Given the description of an element on the screen output the (x, y) to click on. 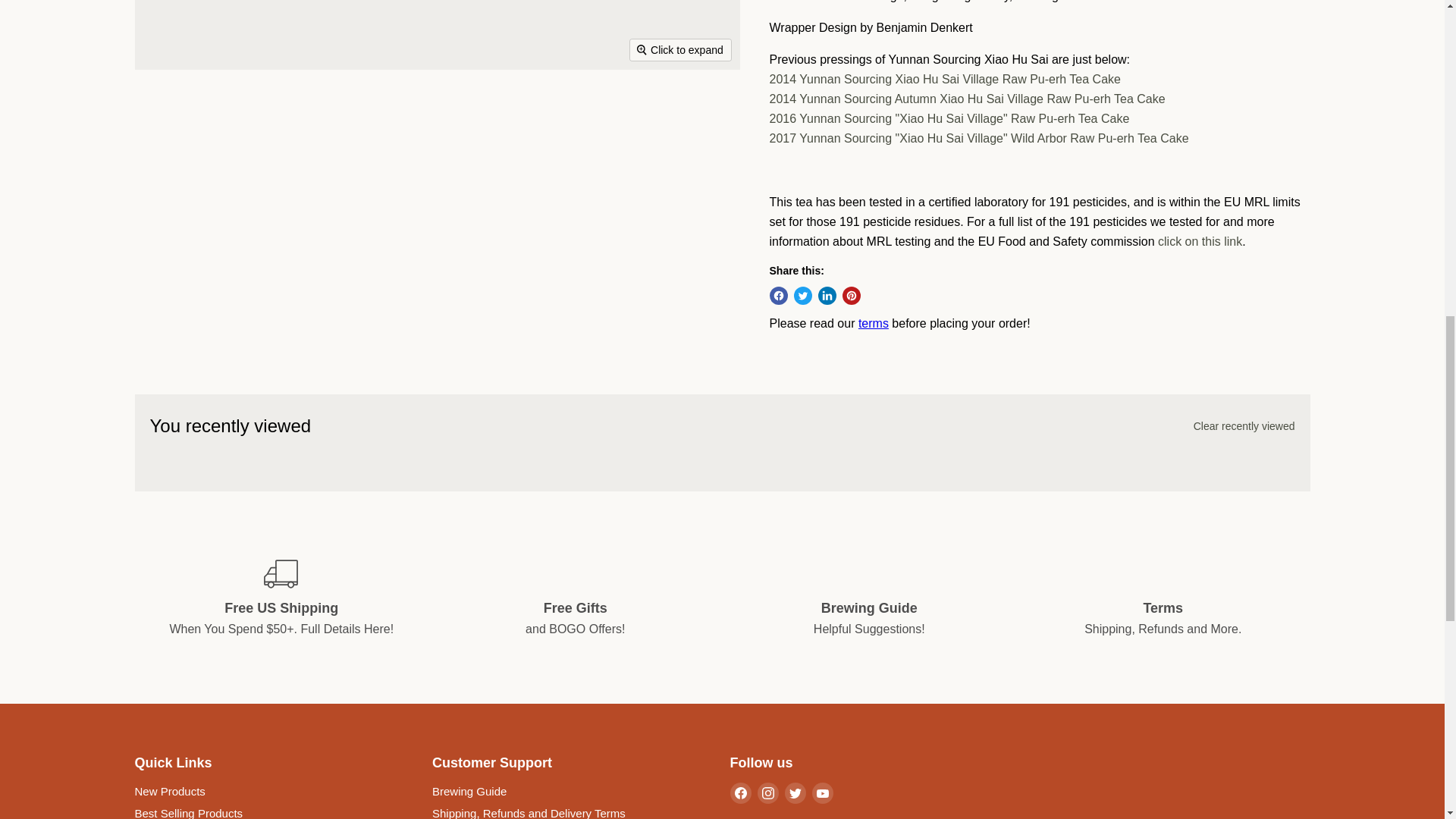
Facebook (740, 792)
YouTube (821, 792)
Twitter (794, 792)
Instagram (767, 792)
